Given the description of an element on the screen output the (x, y) to click on. 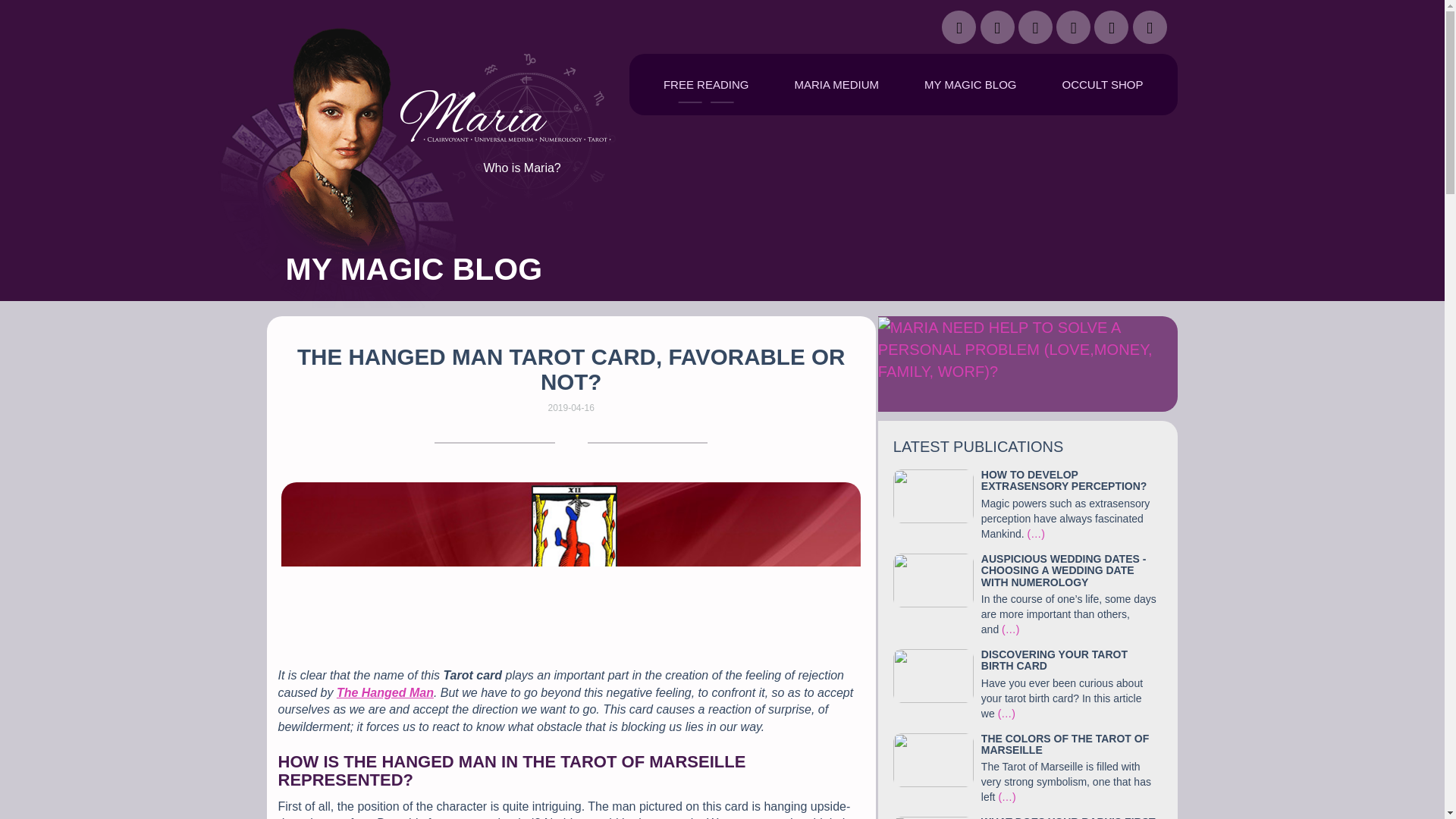
LinkedIn (996, 27)
Instagram (958, 27)
The Hanged Man (384, 692)
FREE READING (705, 84)
OCCULT SHOP (1102, 84)
LinkedIn (996, 27)
Twitter (1111, 27)
Twitter (1111, 27)
Instagram (958, 27)
MARIA MEDIUM (836, 84)
YouTube (1149, 27)
Pinterest (1034, 27)
Youtube (1149, 27)
Who is Maria? (522, 168)
